Given the description of an element on the screen output the (x, y) to click on. 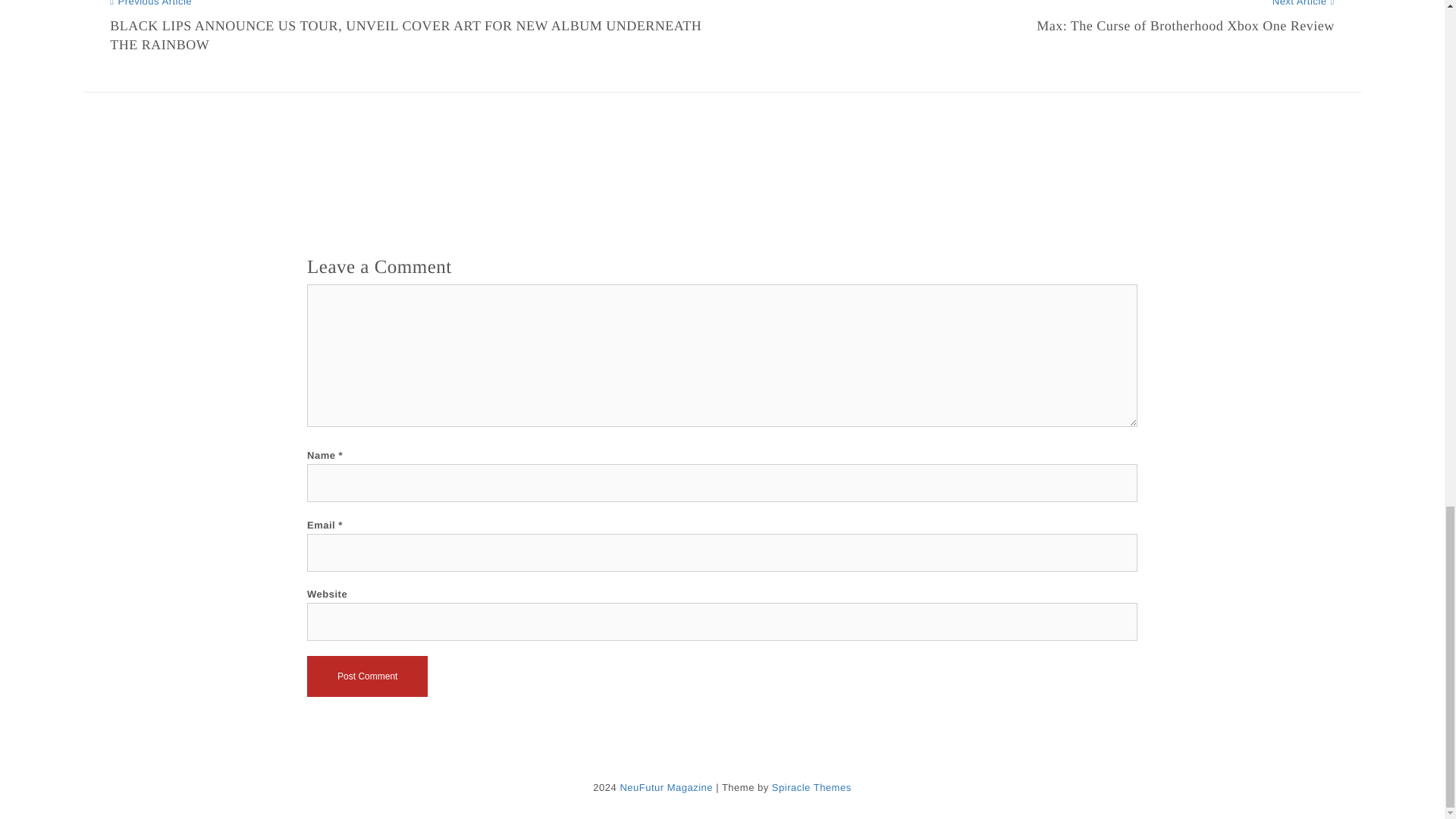
Post Comment (367, 676)
